Given the description of an element on the screen output the (x, y) to click on. 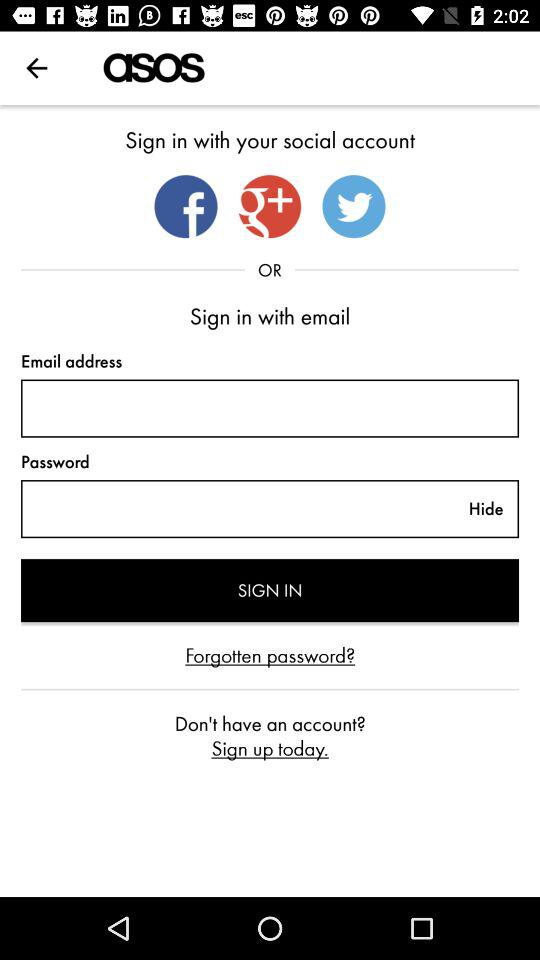
twitter login button (353, 206)
